Given the description of an element on the screen output the (x, y) to click on. 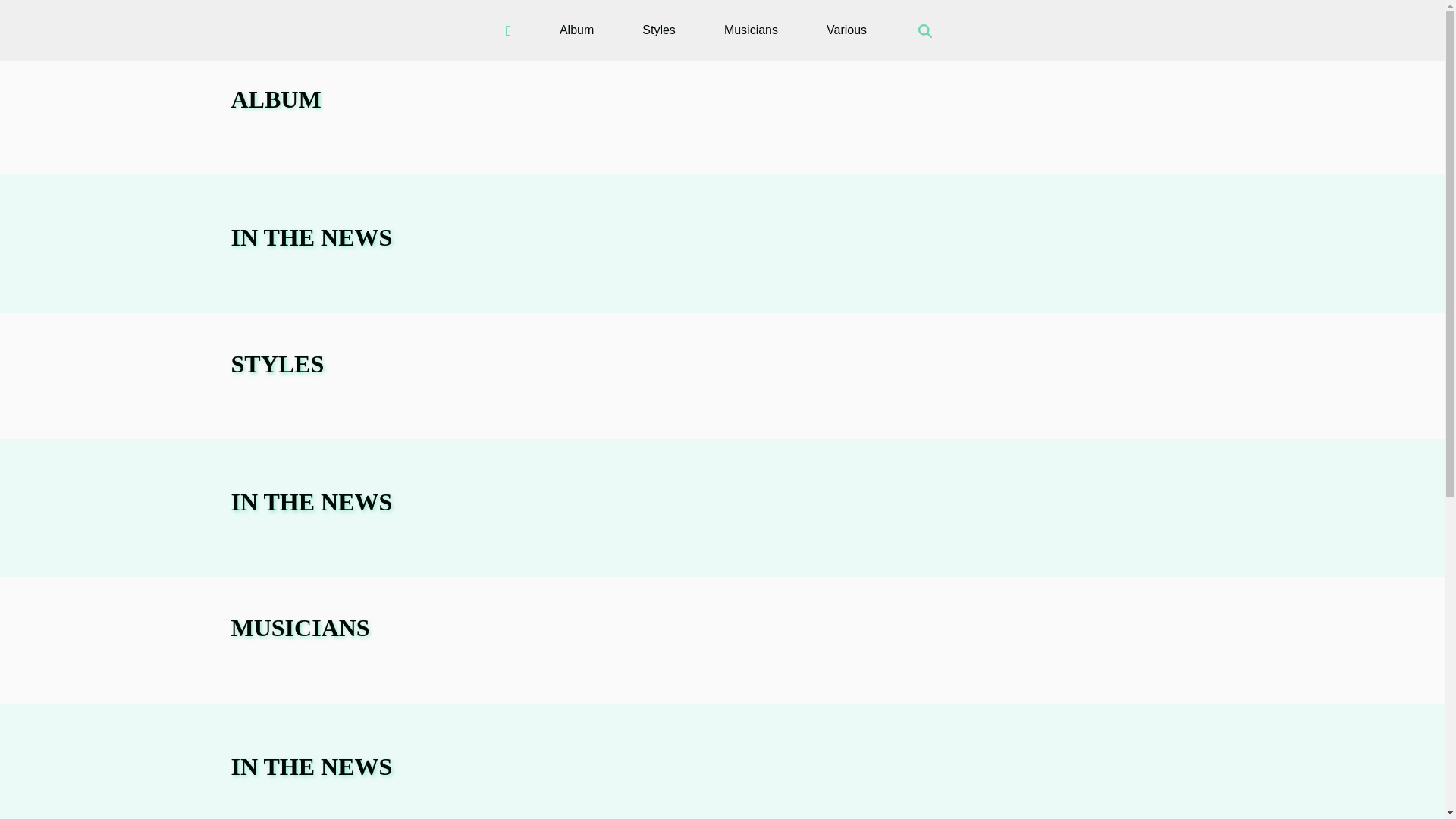
Album (576, 30)
Musicians (750, 30)
Various (846, 30)
Styles (658, 30)
